Given the description of an element on the screen output the (x, y) to click on. 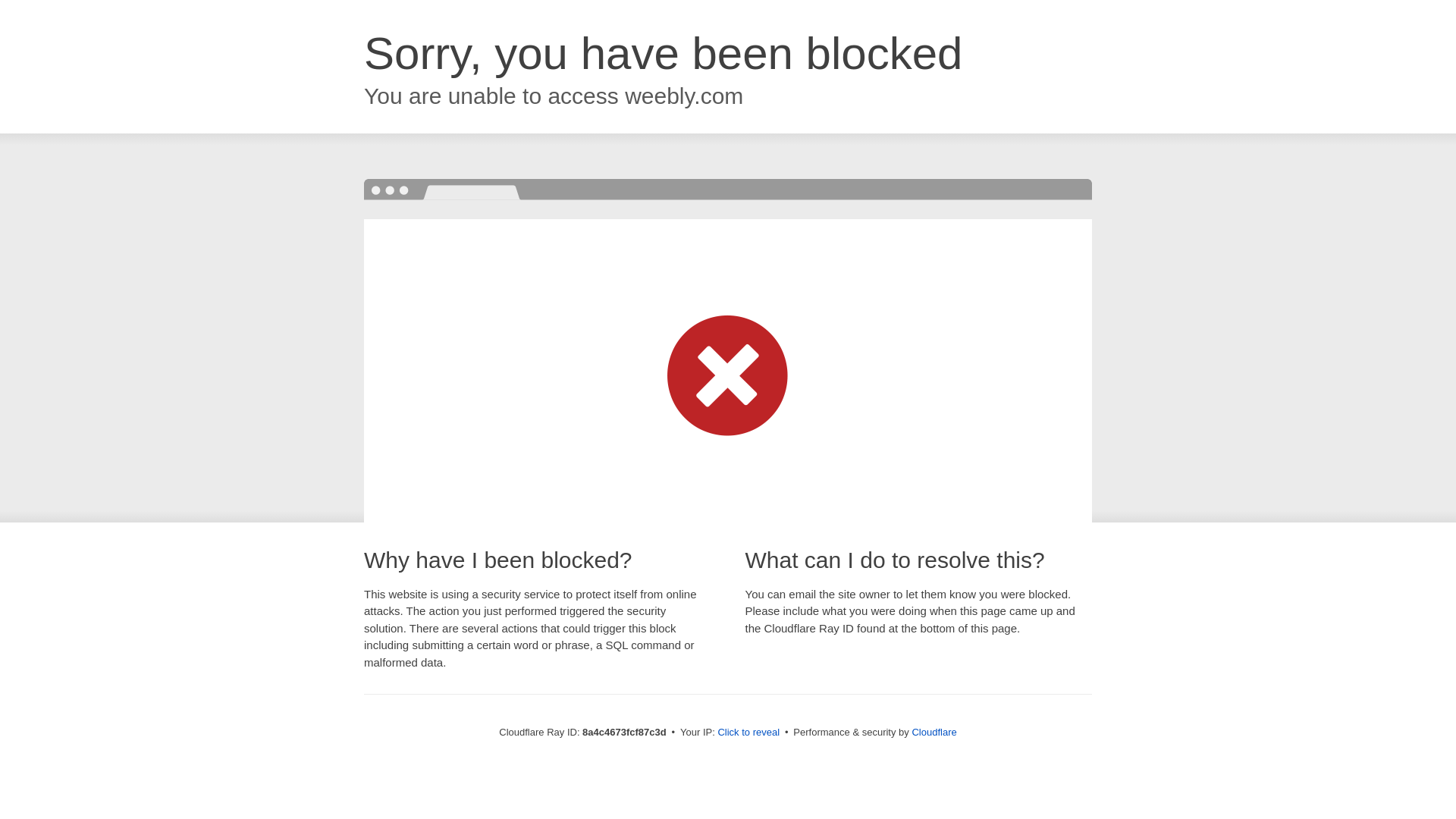
Cloudflare (933, 731)
Click to reveal (747, 732)
